Given the description of an element on the screen output the (x, y) to click on. 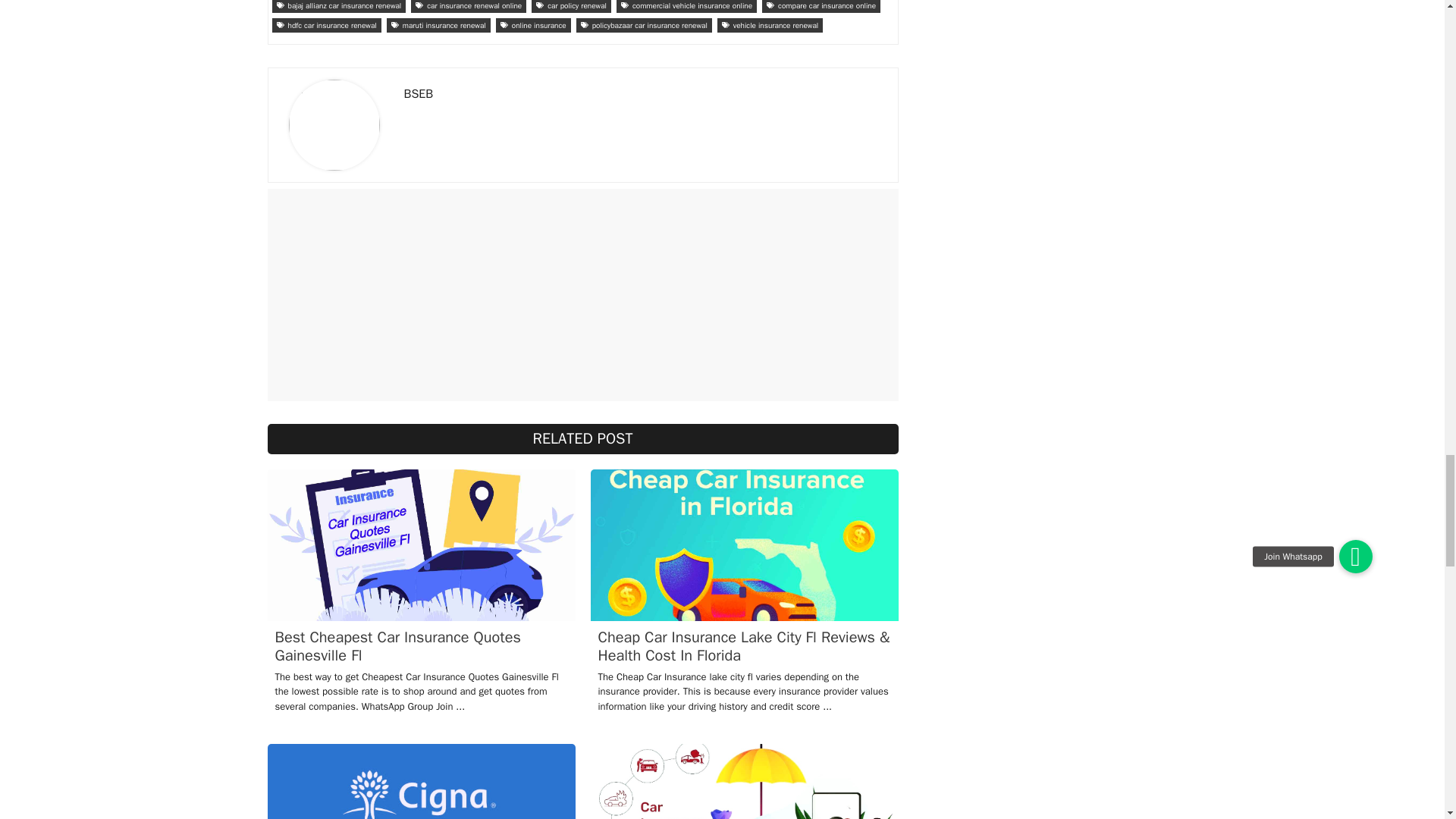
maruti insurance renewal (438, 25)
commercial vehicle insurance online (686, 6)
online insurance (533, 25)
bajaj allianz car insurance renewal (338, 6)
compare car insurance online (820, 6)
car policy renewal (571, 6)
hdfc car insurance renewal (325, 25)
car insurance renewal online (467, 6)
